Given the description of an element on the screen output the (x, y) to click on. 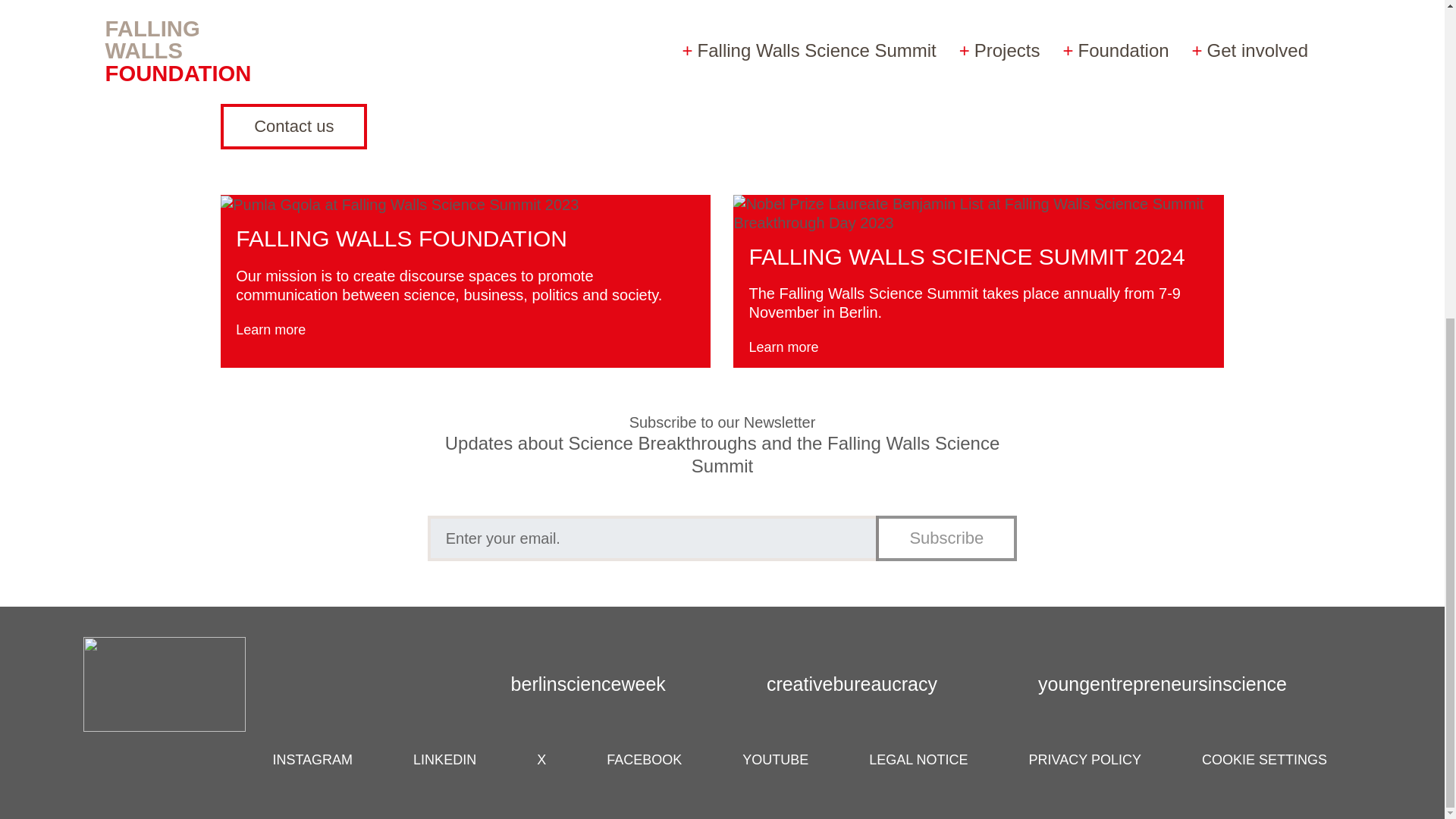
Home (175, 684)
Learn more (794, 346)
youngentrepreneursinscience.com (1181, 684)
Contact us (293, 126)
Privacy Policy (1085, 760)
creativebureaucracy.org (871, 684)
FALLING WALLS SCIENCE SUMMIT 2024 (966, 256)
Visit our YouTube Channel (328, 3)
Cookie settings (1264, 760)
Subscribe (946, 538)
